Given the description of an element on the screen output the (x, y) to click on. 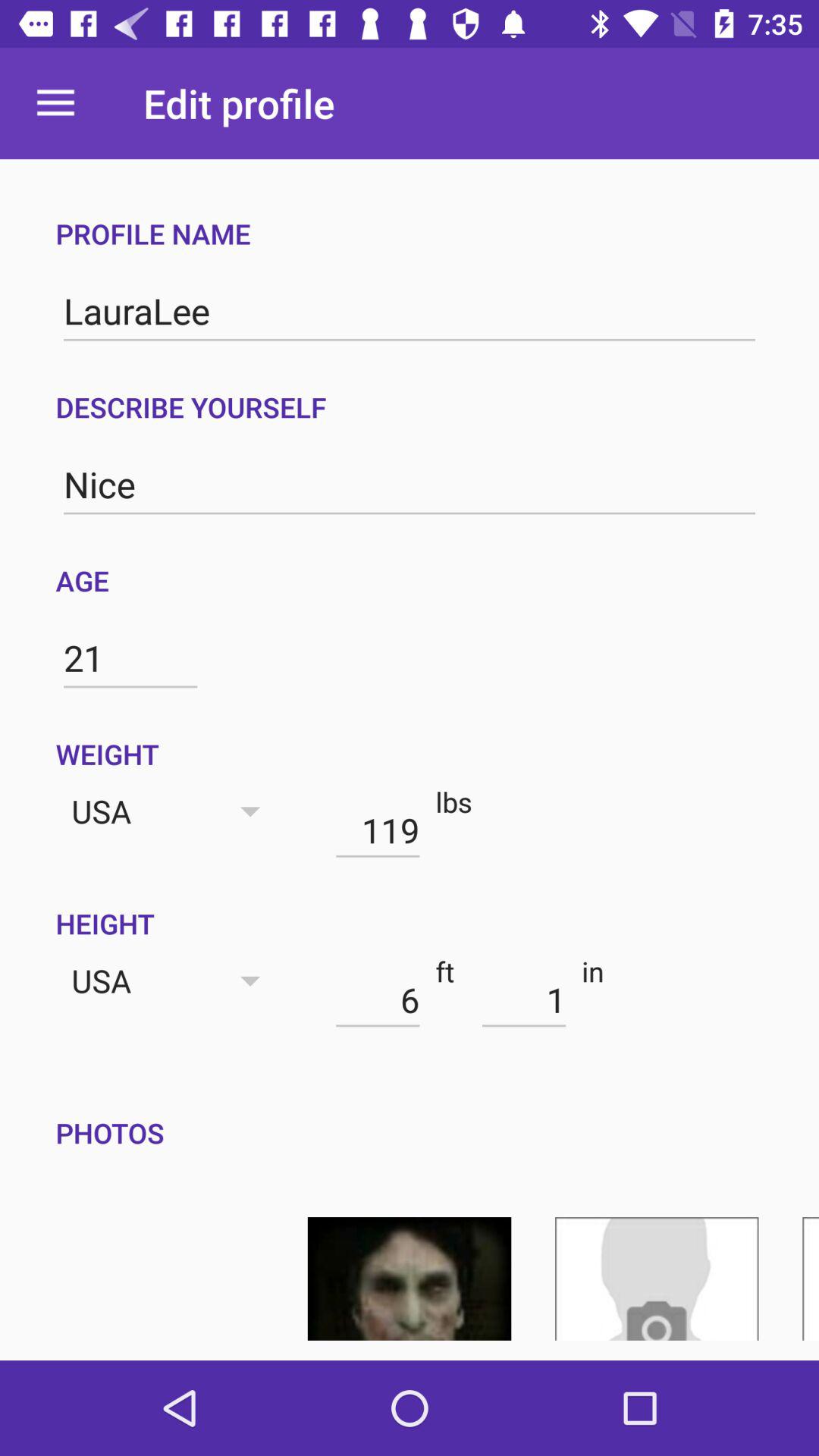
click icon next to ft icon (523, 999)
